Given the description of an element on the screen output the (x, y) to click on. 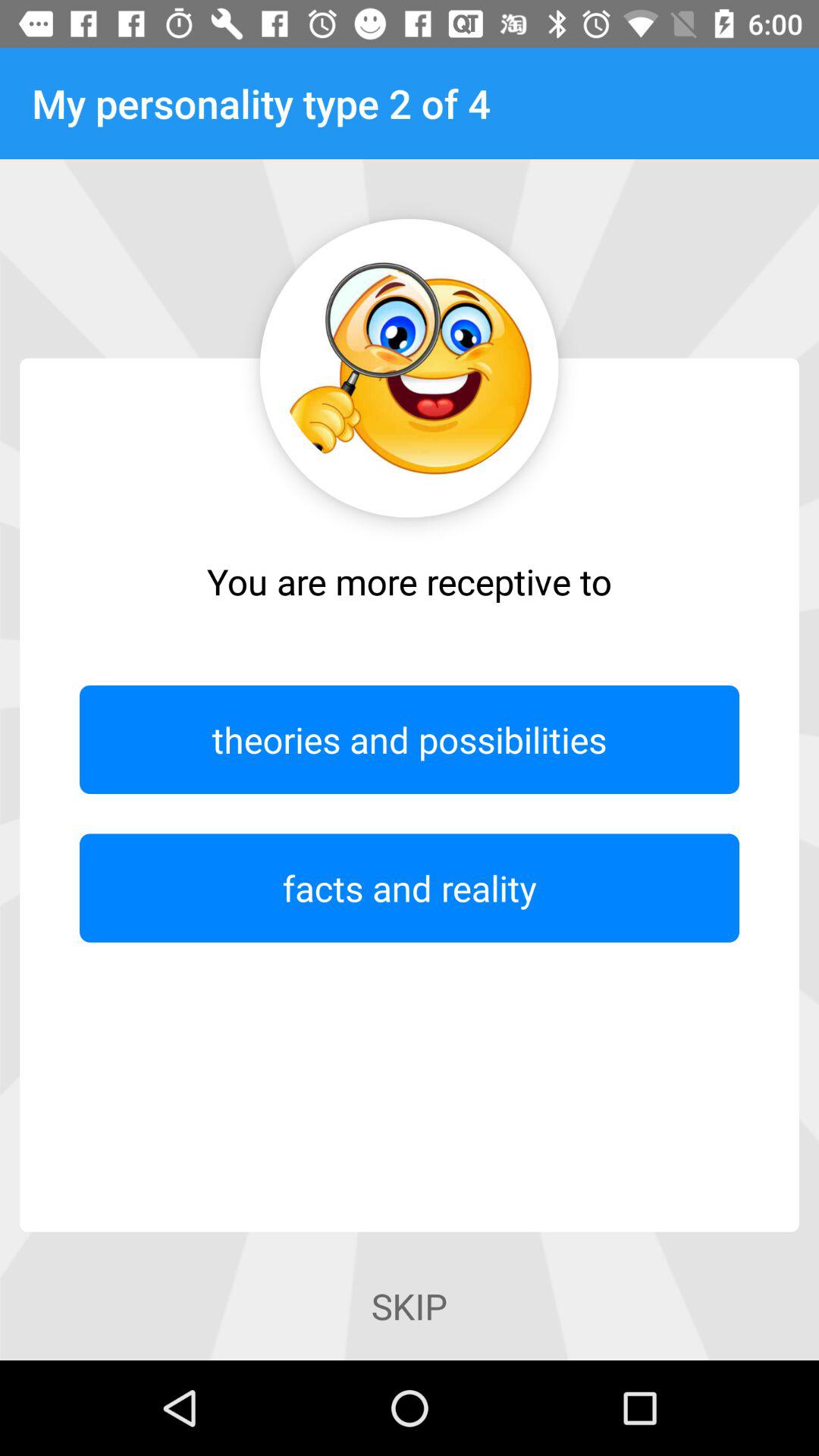
select icon above facts and reality (409, 739)
